Given the description of an element on the screen output the (x, y) to click on. 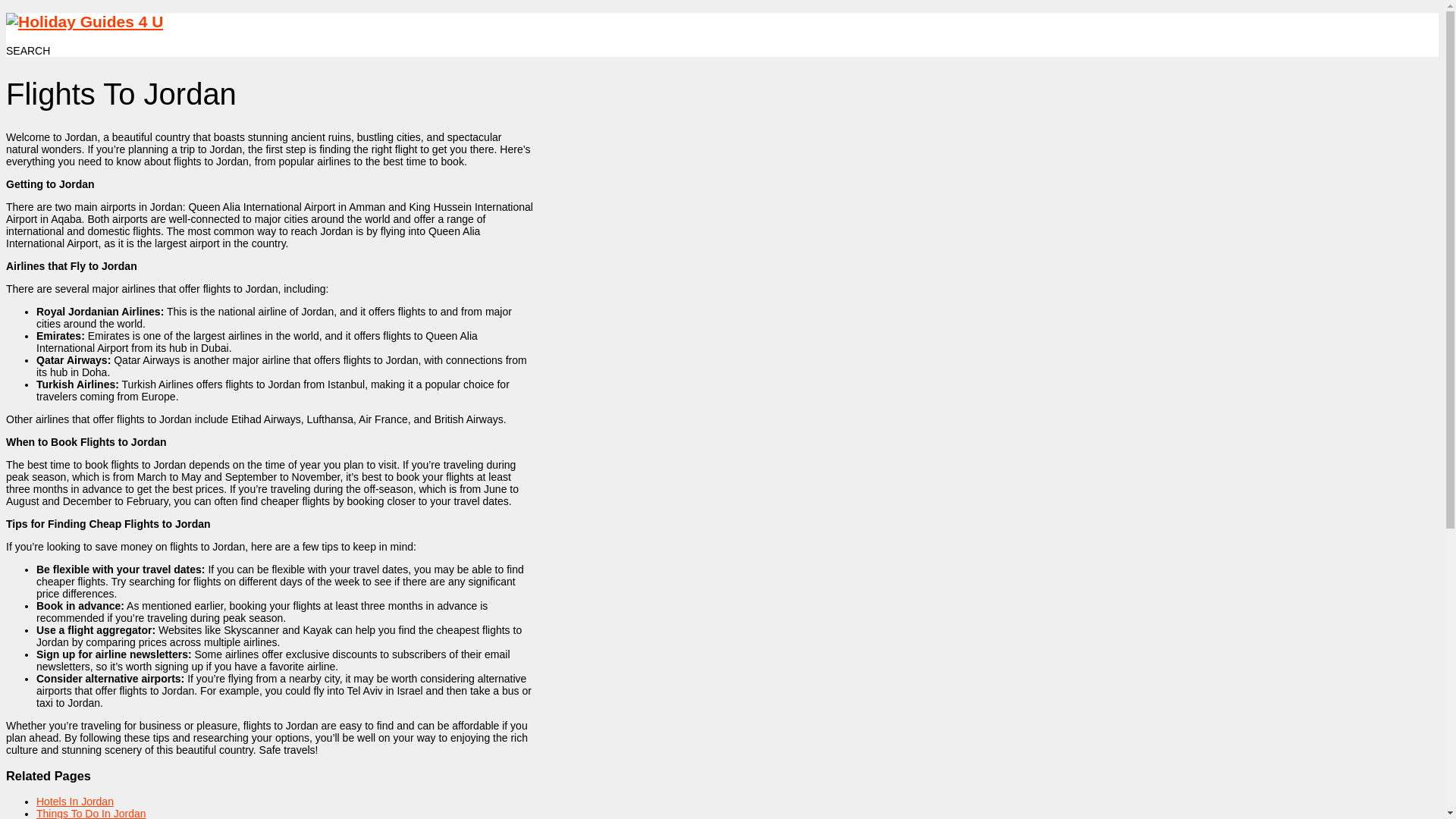
Hotels In Jordan (74, 801)
Things To Do In Jordan (91, 813)
SEARCH (27, 50)
Holiday Guides 4 U (84, 21)
